Given the description of an element on the screen output the (x, y) to click on. 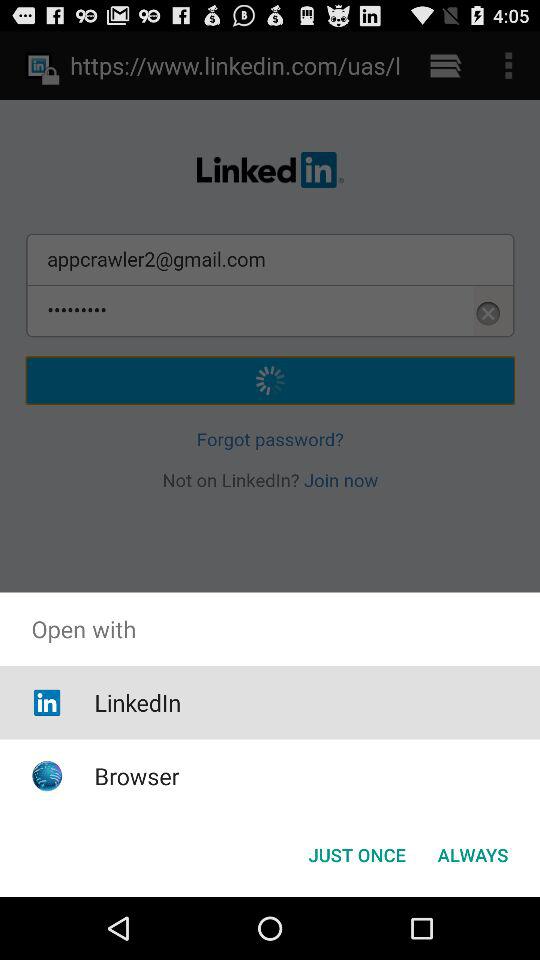
click the item below the open with (137, 702)
